Given the description of an element on the screen output the (x, y) to click on. 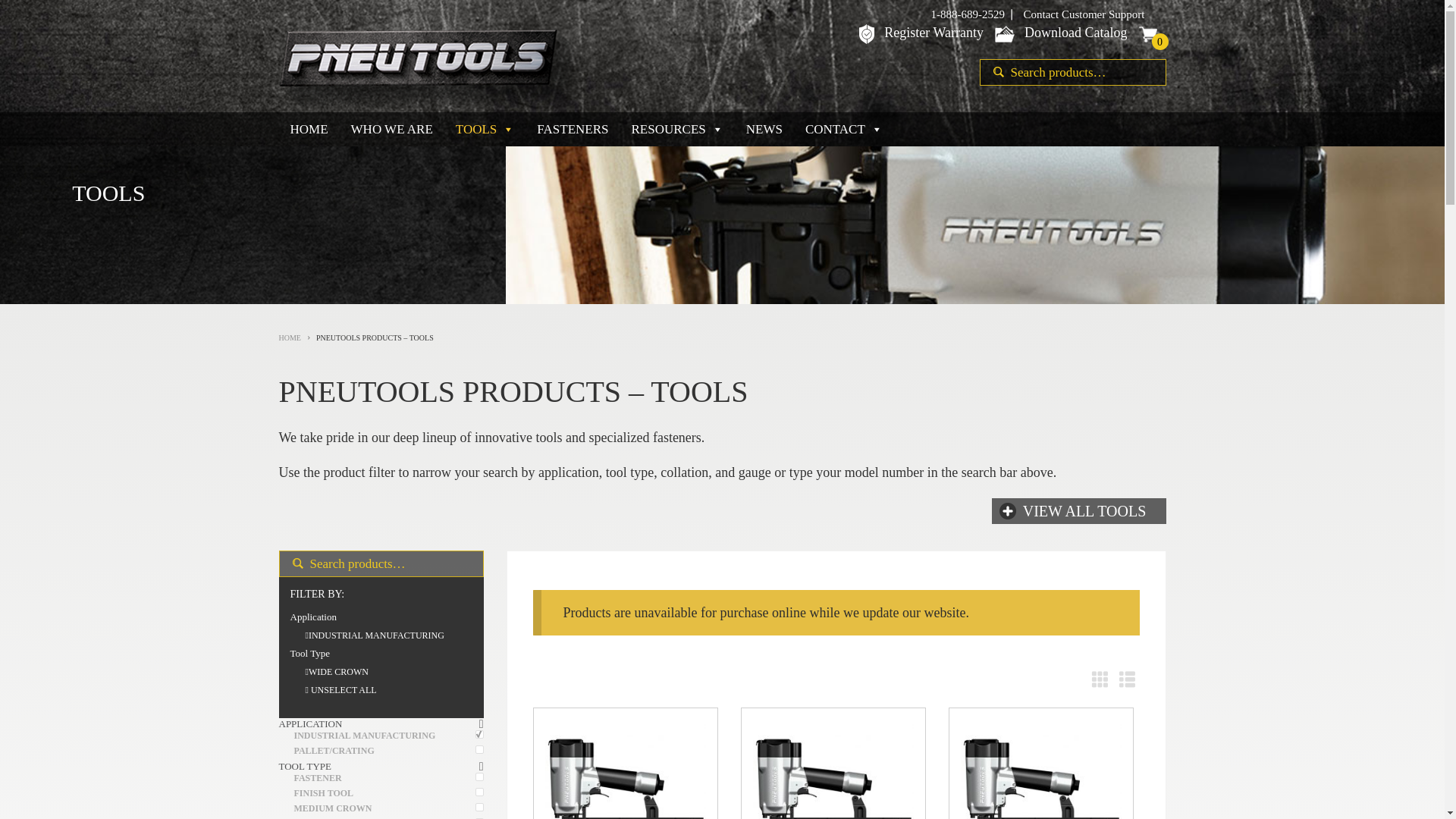
News and Events (764, 129)
FASTENERS (572, 129)
Search (992, 71)
Grid view (1096, 677)
Download Catalog (1075, 32)
WHO WE ARE (391, 129)
Register Warranty (933, 32)
Go to PneuTools. (294, 337)
RESOURCES (677, 129)
0 (1152, 35)
Caps, Staples, and Joist Hanger Nails (572, 129)
TOOLS (484, 129)
Search (992, 71)
HOME (309, 129)
1-888-689-2529 (968, 14)
